Given the description of an element on the screen output the (x, y) to click on. 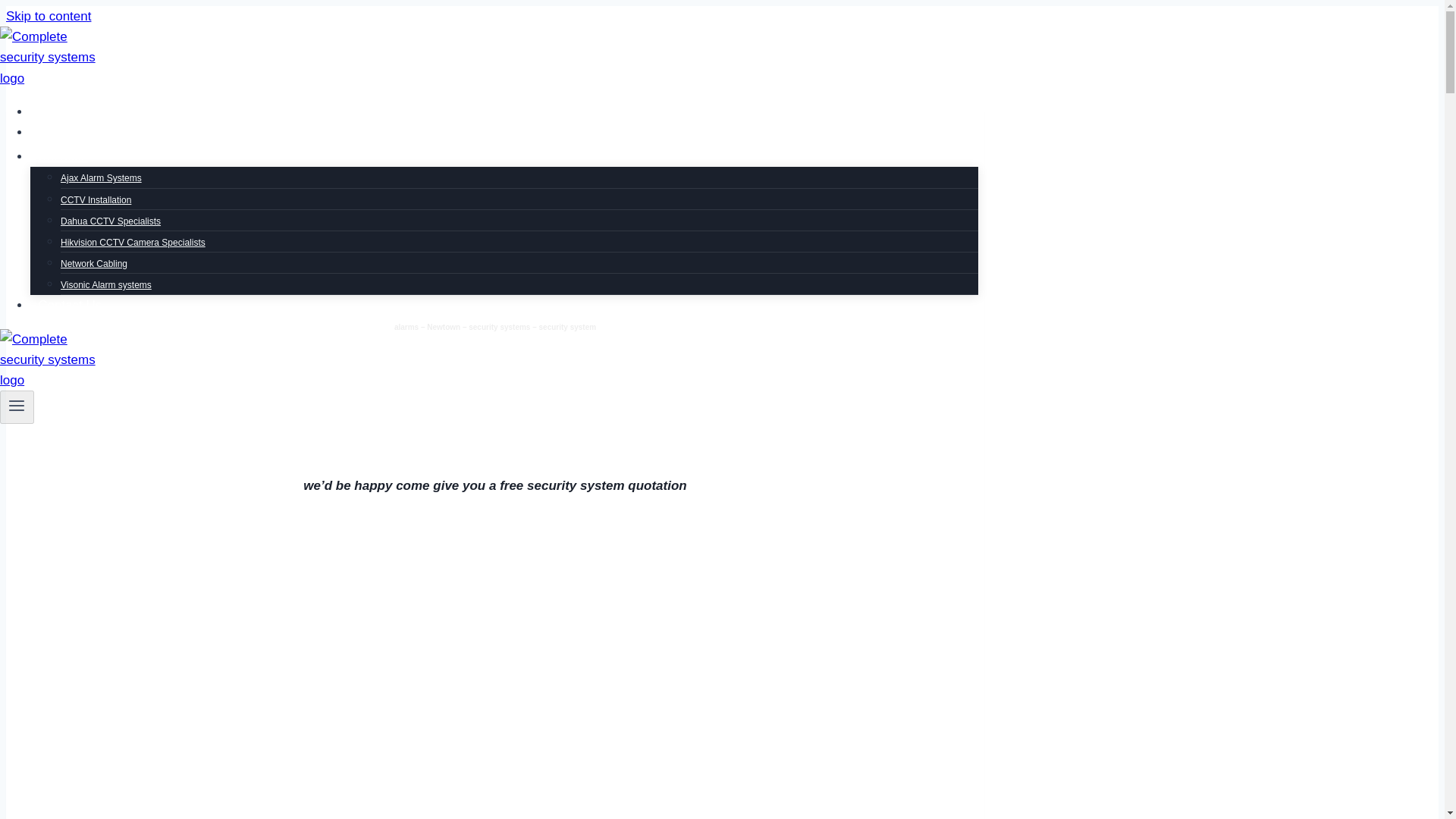
Alarm services (71, 156)
alarm installation (55, 111)
CCTV Installation (96, 199)
About Alarm installations (76, 132)
Contact Us (69, 305)
Toggle Menu (16, 405)
Toggle Menu (16, 407)
About Alarms (76, 132)
Visonic Alarm systems (106, 285)
Hikvision CCTV Camera Specialists (133, 242)
Home (55, 111)
Contact us (64, 520)
Expand (95, 151)
Skip to content (47, 16)
Dahua CCTV Specialists (110, 221)
